Given the description of an element on the screen output the (x, y) to click on. 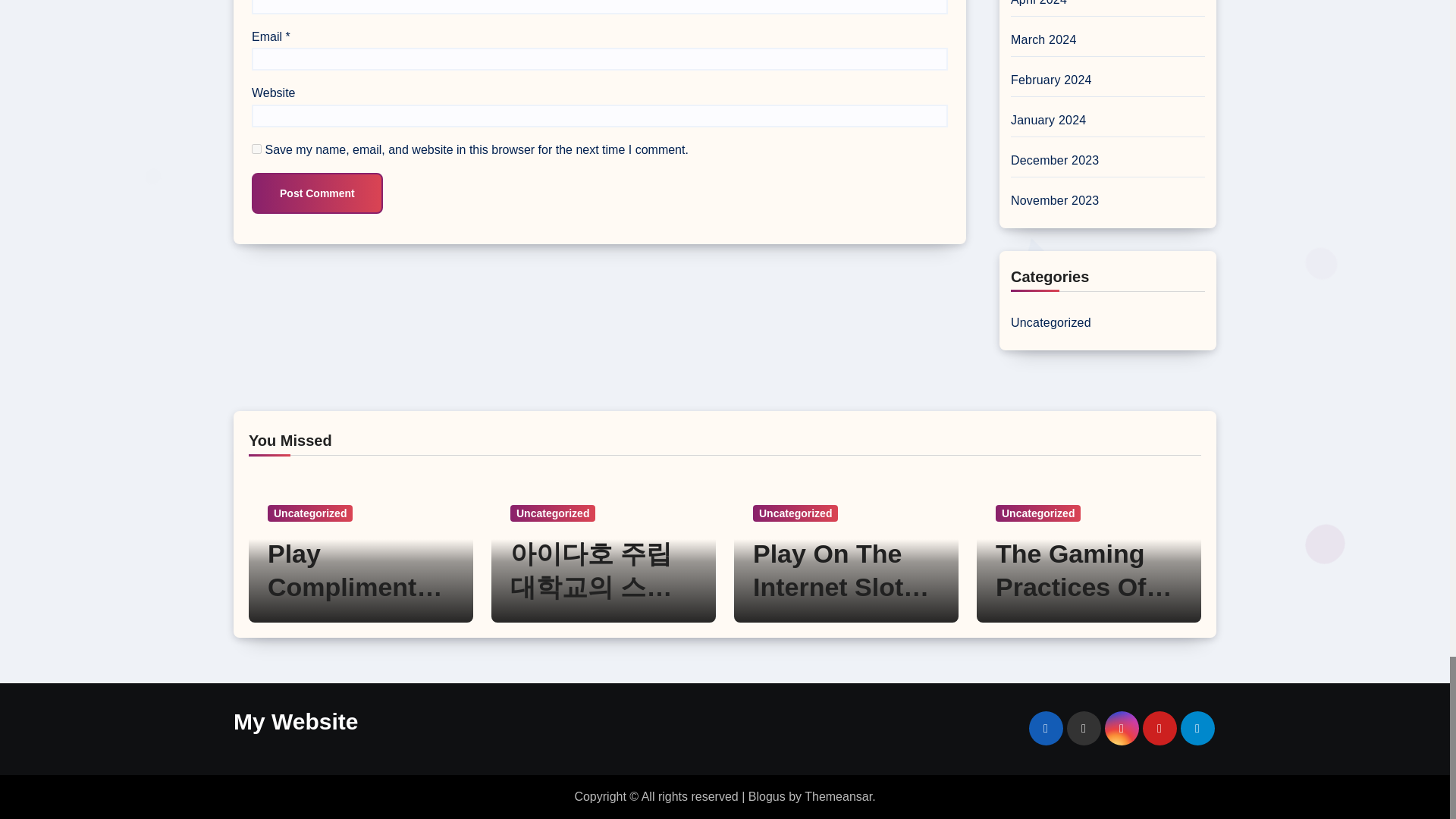
yes (256, 148)
Post Comment (316, 192)
